Given the description of an element on the screen output the (x, y) to click on. 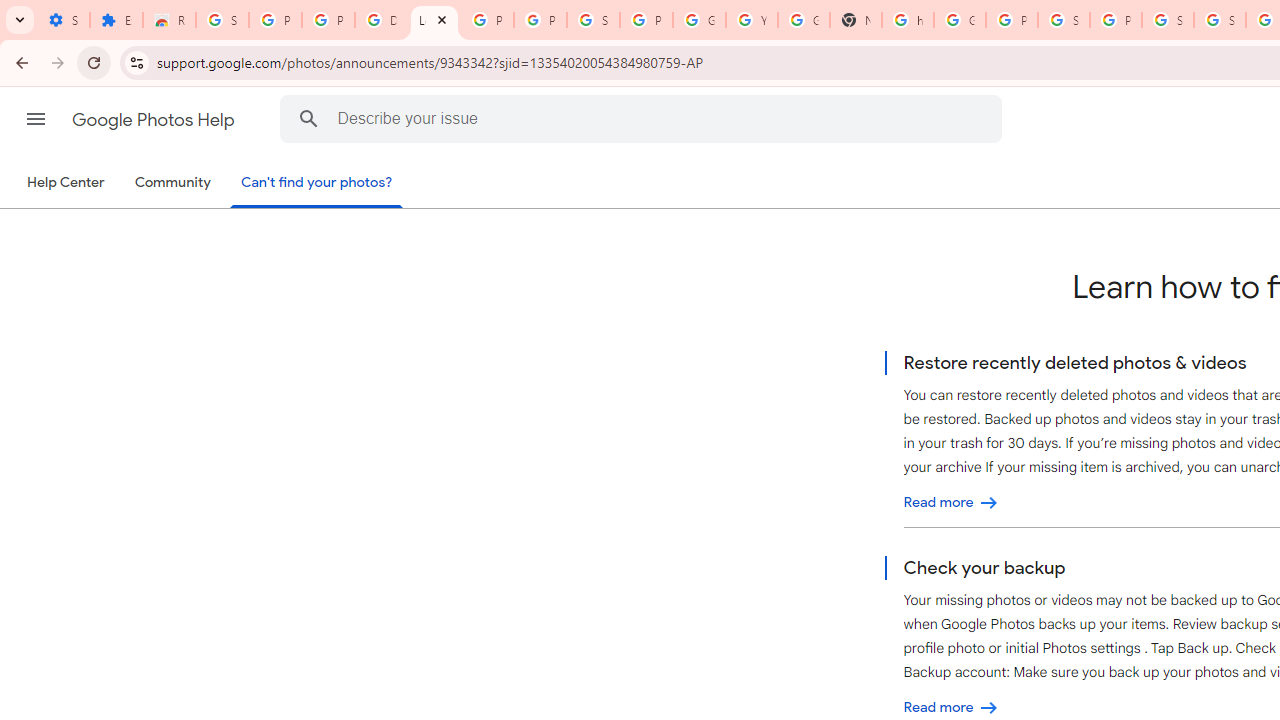
Can't find your photos? (317, 183)
Community (171, 183)
Settings - On startup (63, 20)
